Given the description of an element on the screen output the (x, y) to click on. 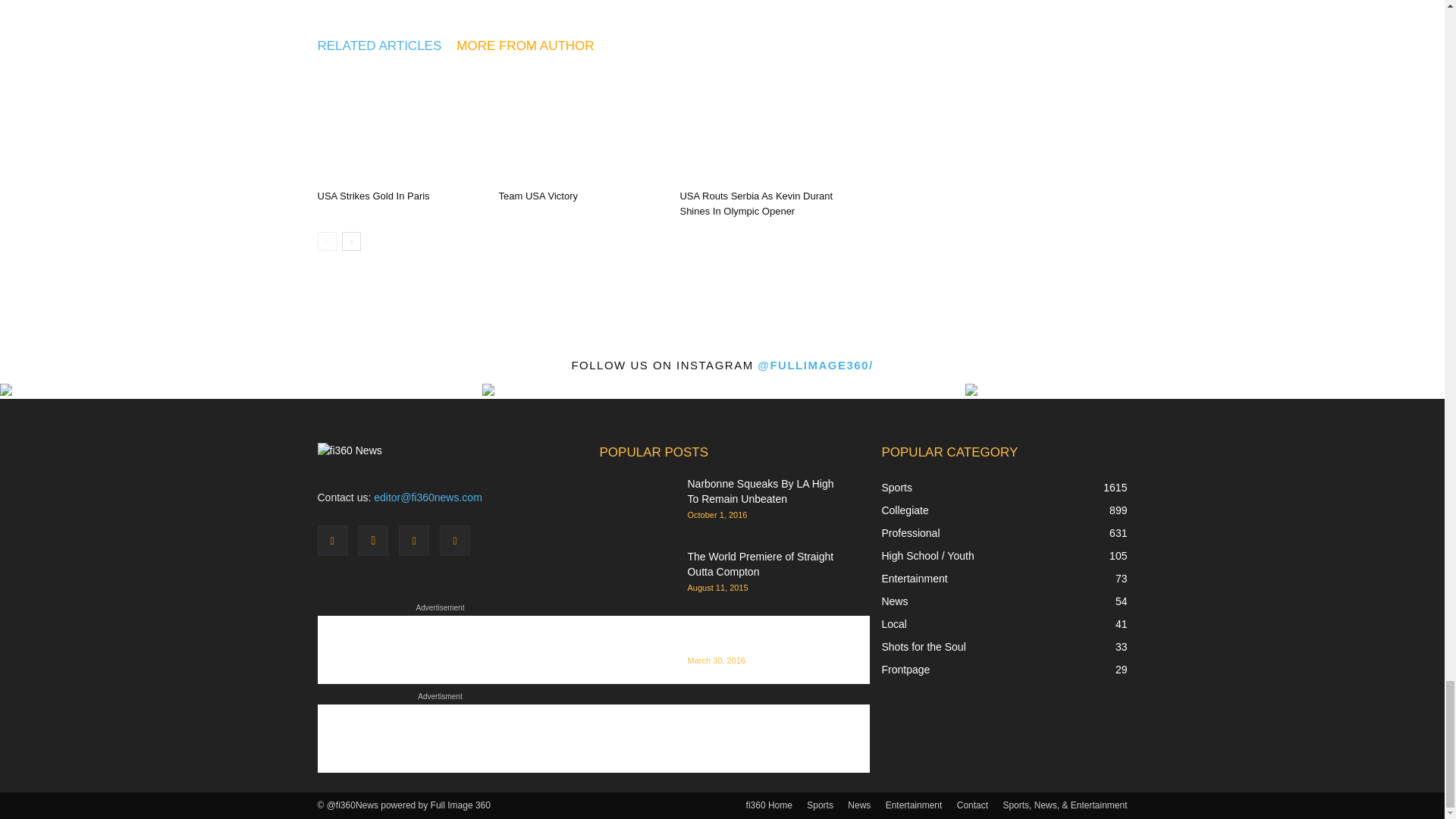
Team USA Victory (537, 195)
Team USA Victory (580, 126)
USA Strikes Gold In Paris (373, 195)
USA Routs Serbia As Kevin Durant Shines In Olympic Opener (761, 126)
USA Strikes Gold In Paris (399, 126)
